Given the description of an element on the screen output the (x, y) to click on. 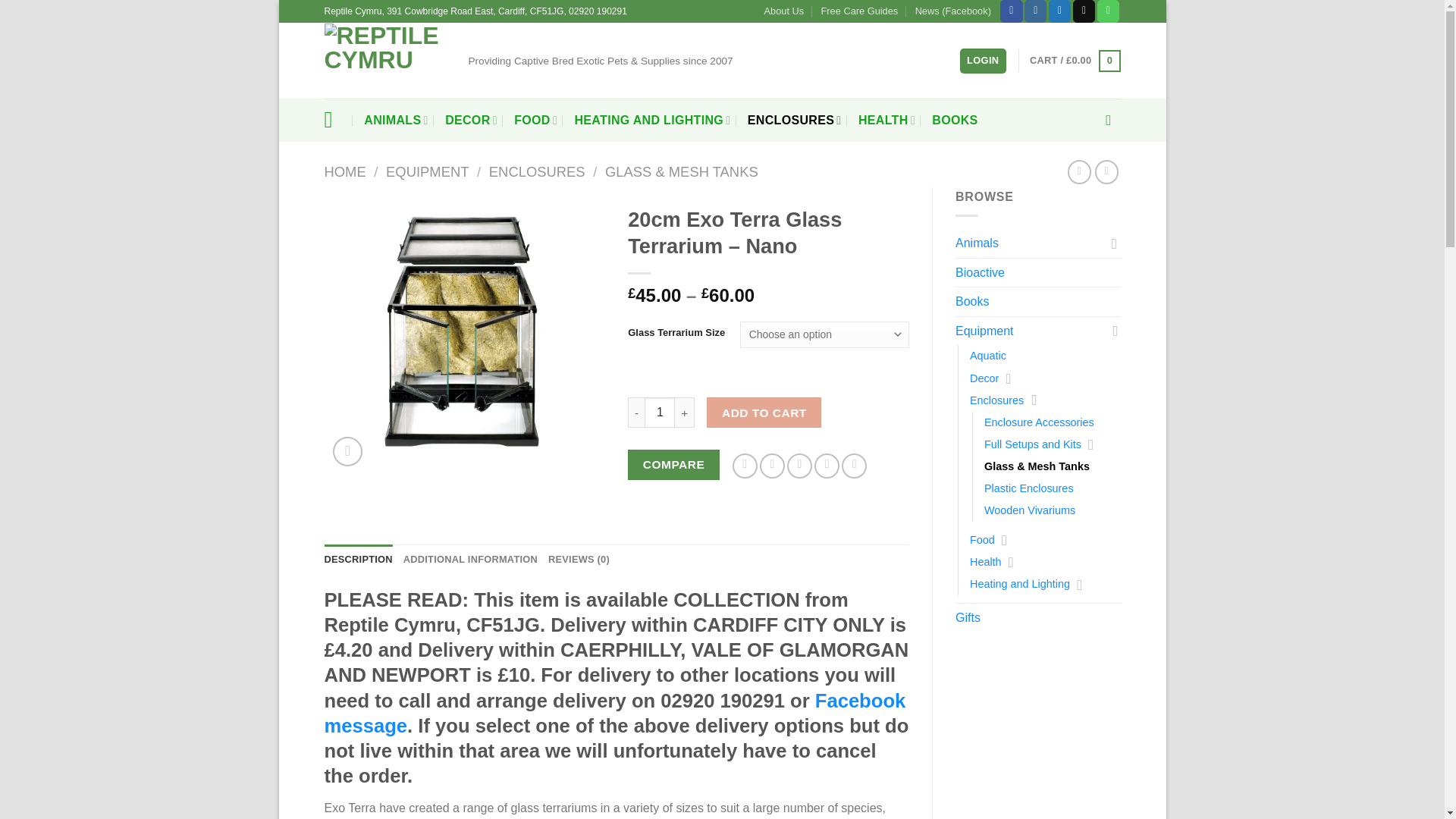
Zoom (347, 451)
DECOR (471, 119)
About Us (784, 11)
HEATING AND LIGHTING (651, 119)
FOOD (535, 119)
1 (660, 412)
ANIMALS (396, 119)
